Given the description of an element on the screen output the (x, y) to click on. 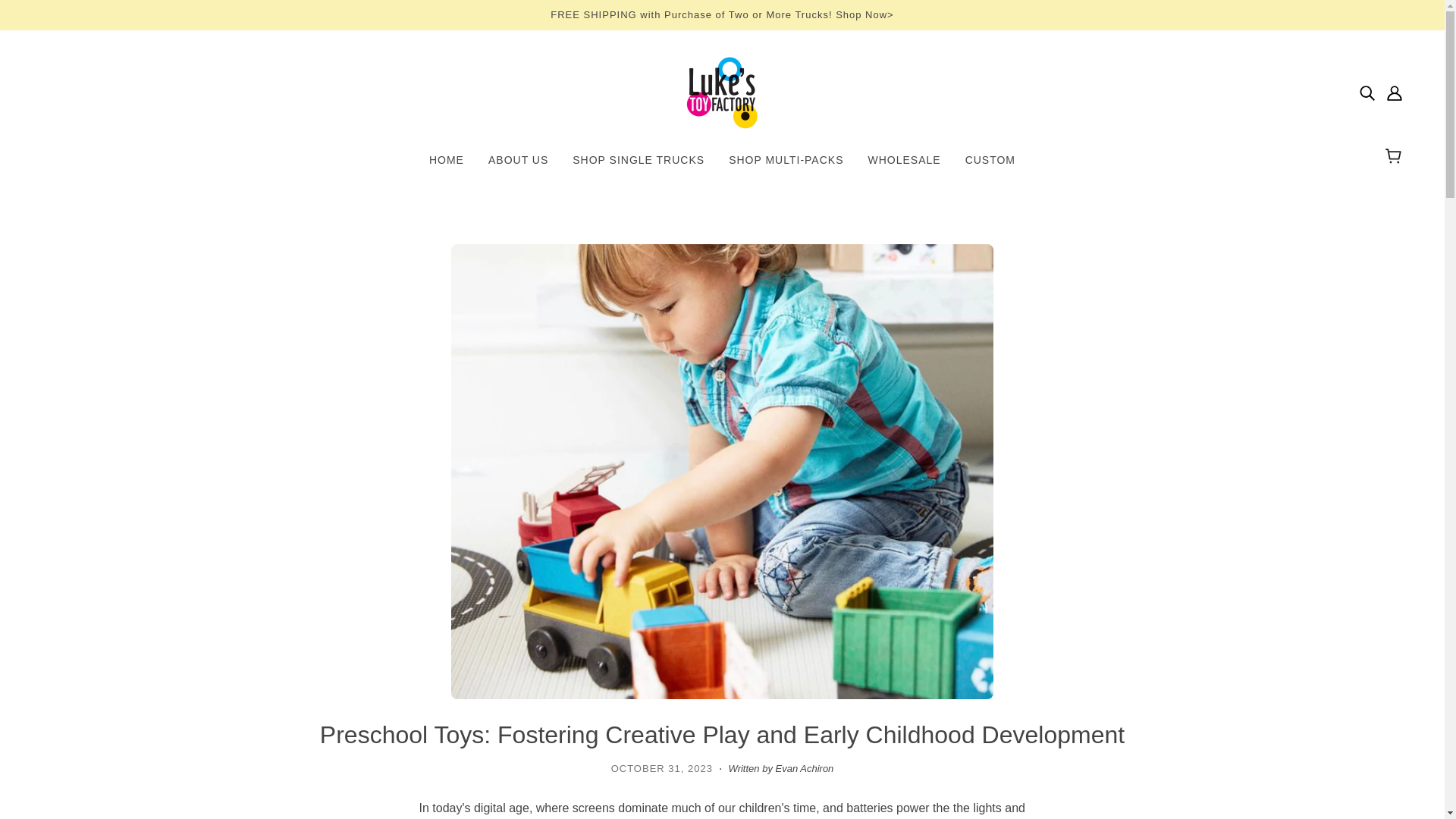
Luke's Toy Factory (722, 92)
SHOP MULTI-PACKS (786, 165)
CUSTOM (990, 165)
SHOP SINGLE TRUCKS (638, 165)
ABOUT US (518, 165)
HOME (446, 165)
WHOLESALE (904, 165)
